Given the description of an element on the screen output the (x, y) to click on. 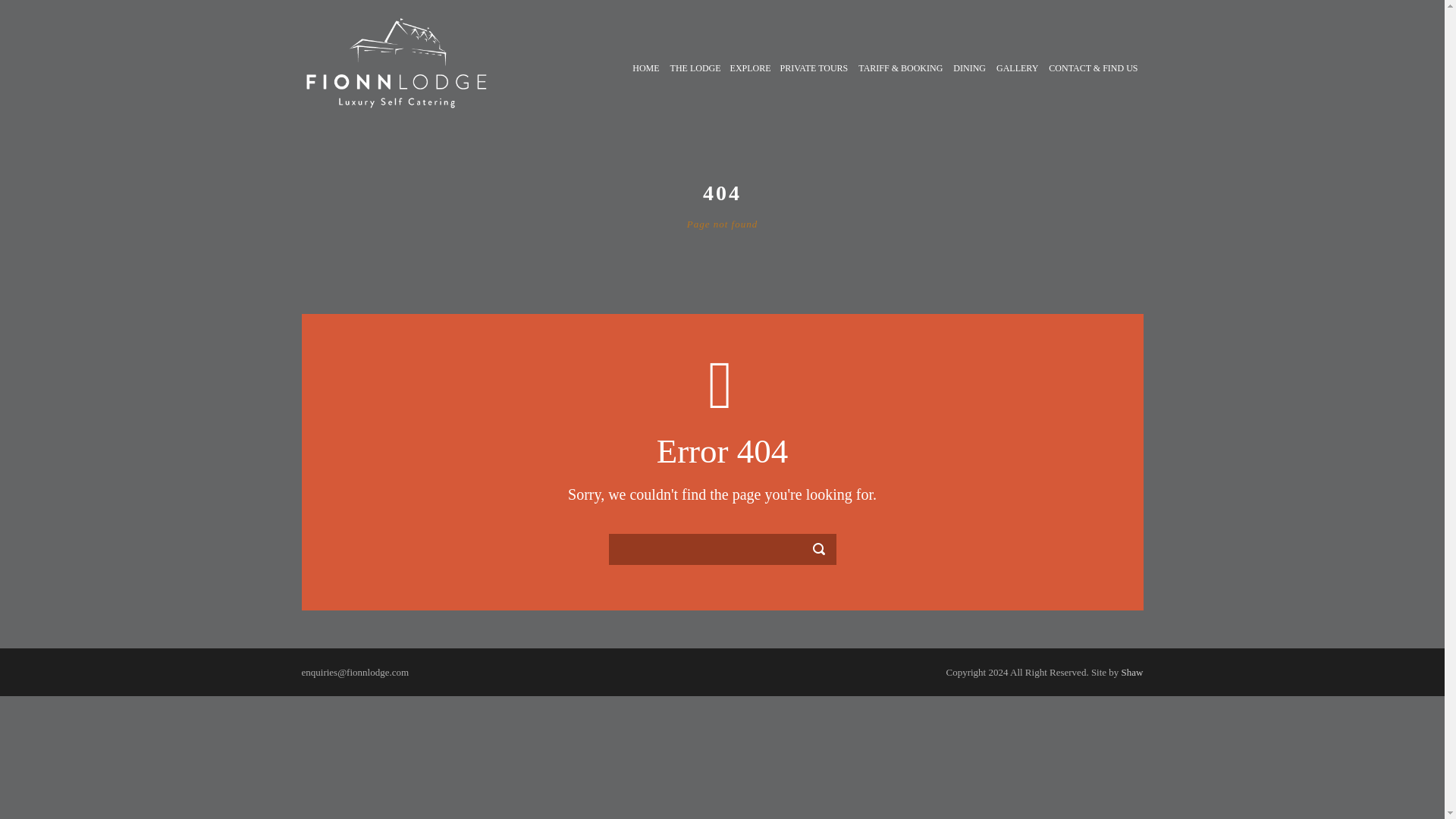
PRIVATE TOURS (813, 84)
Shaw (1131, 672)
THE LODGE (695, 84)
EXPLORE (749, 84)
GALLERY (1017, 84)
